Given the description of an element on the screen output the (x, y) to click on. 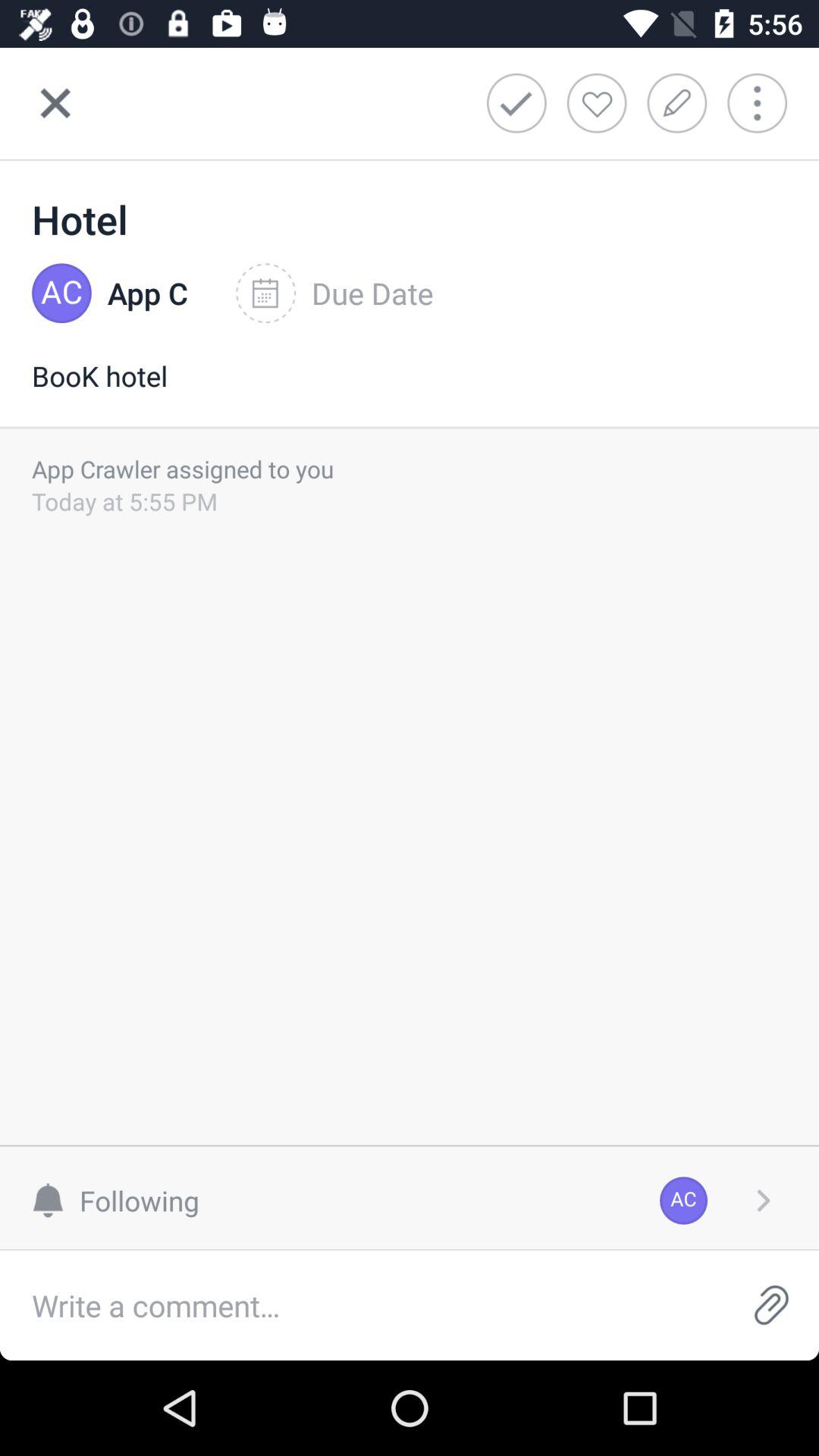
more options (768, 103)
